Given the description of an element on the screen output the (x, y) to click on. 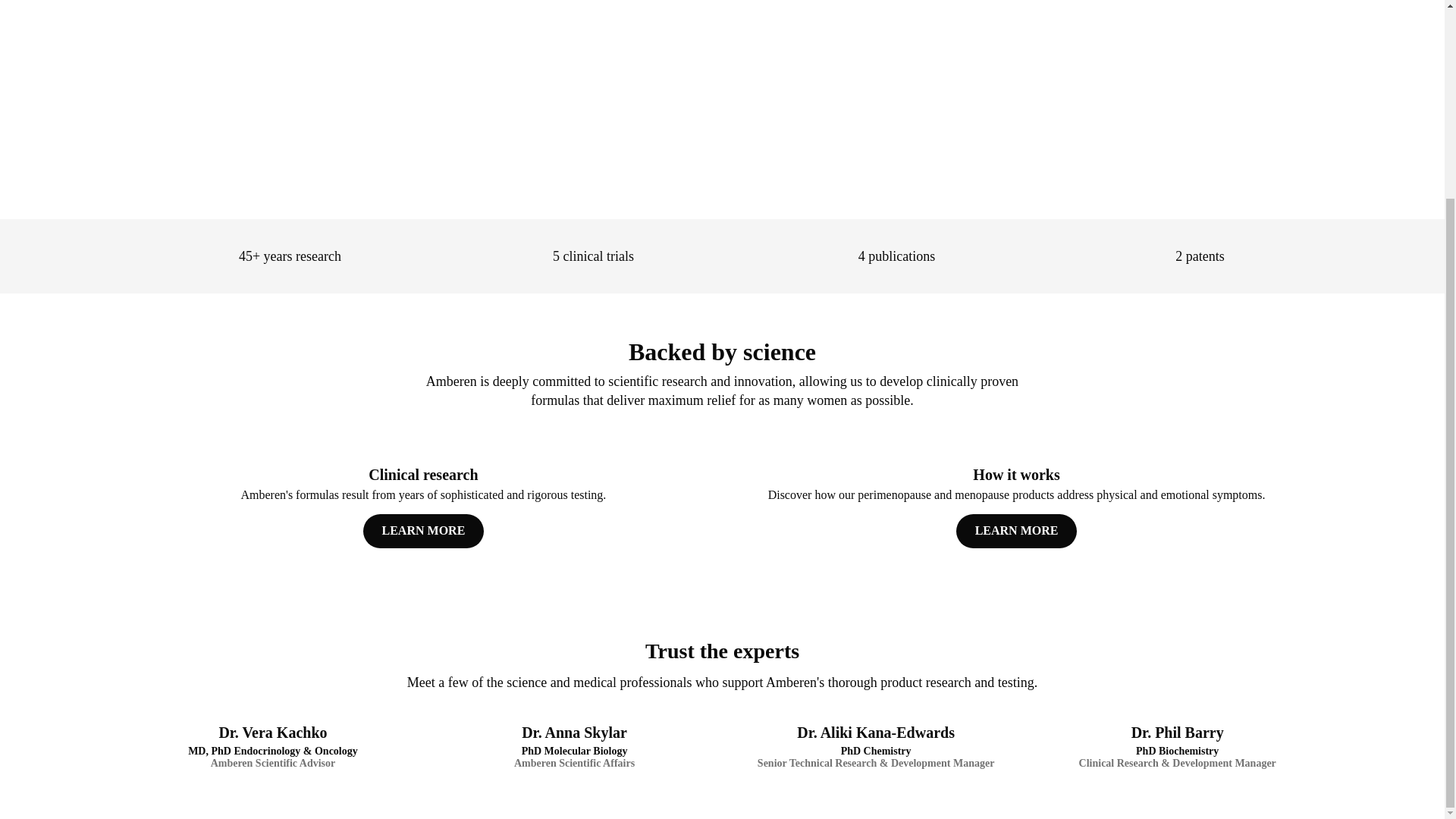
How it works (1015, 501)
Clinical research (422, 501)
